Given the description of an element on the screen output the (x, y) to click on. 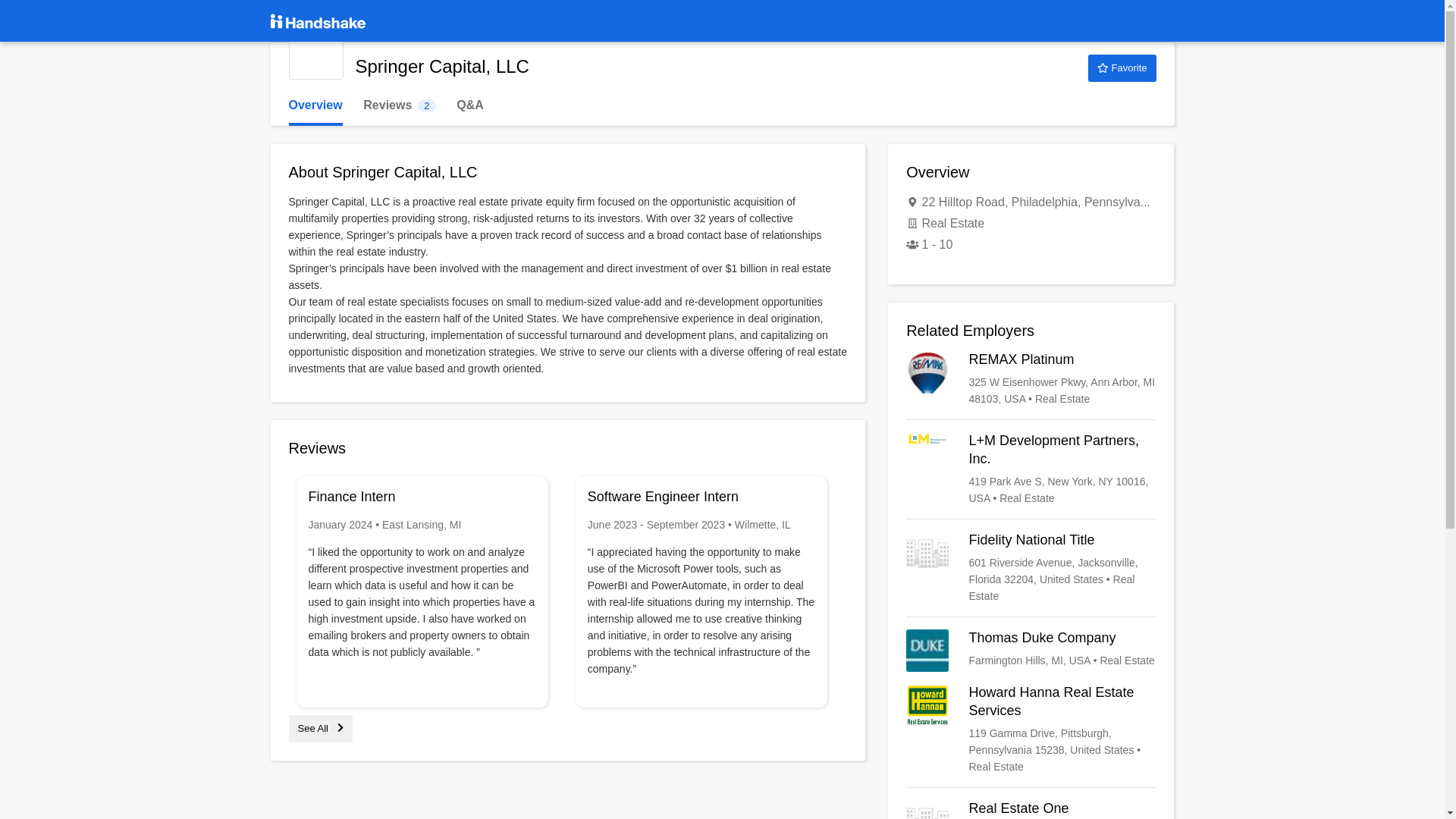
REMAX Platinum (1030, 379)
Real Estate One (1030, 809)
Favorite (1121, 67)
Thomas Duke Company (1030, 650)
Overview (315, 105)
Springer Capital, LLC (315, 52)
Fidelity National Title (398, 105)
Howard Hanna Real Estate Services (1030, 567)
See All (1030, 728)
